Given the description of an element on the screen output the (x, y) to click on. 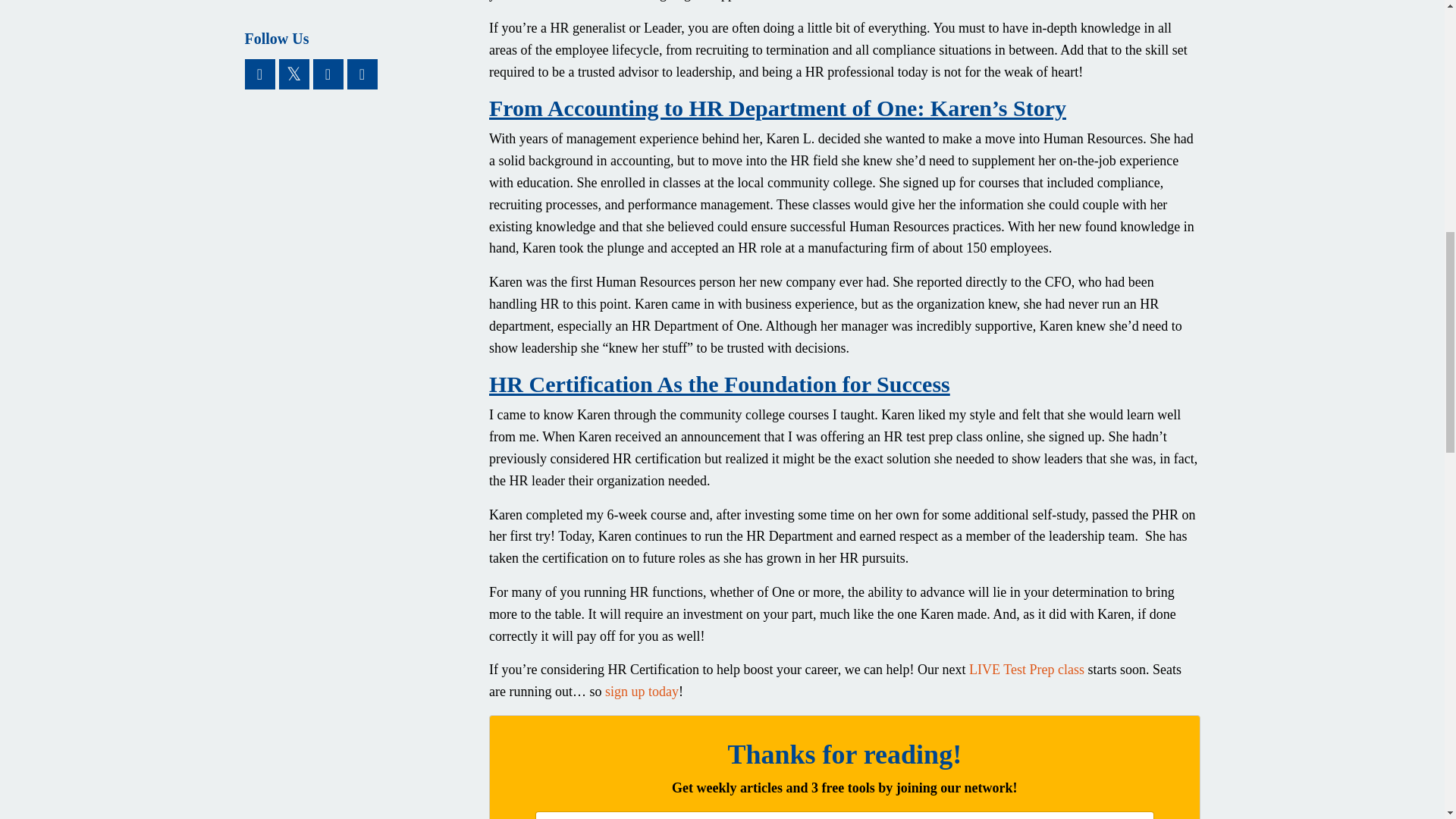
sign up today (641, 691)
Work Culture (354, 3)
LIVE Test Prep class (1026, 669)
